Given the description of an element on the screen output the (x, y) to click on. 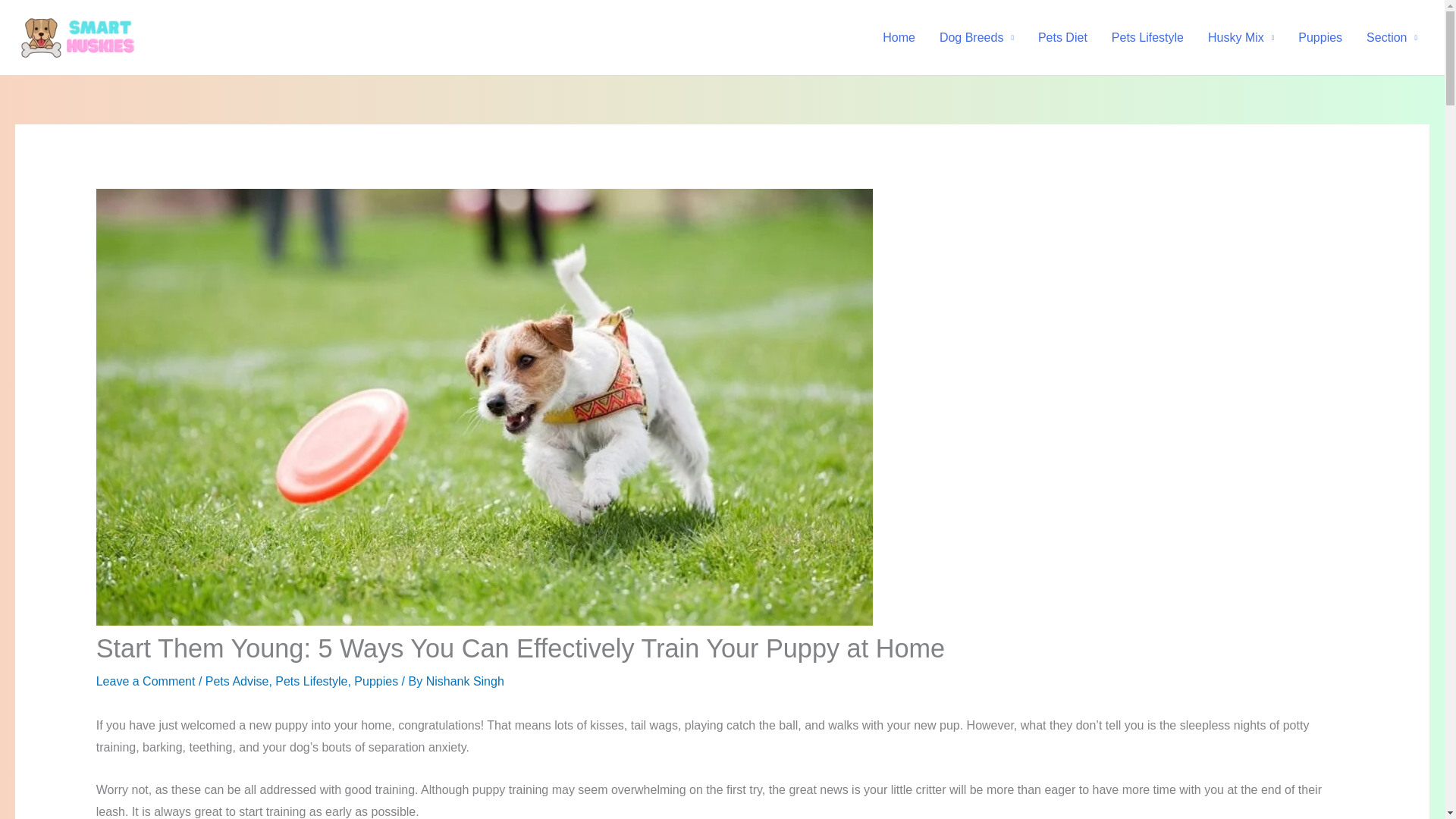
Pets Lifestyle (311, 680)
Nishank Singh (464, 680)
Puppies (375, 680)
Pets Lifestyle (1147, 36)
Leave a Comment (145, 680)
Section (1391, 36)
Home (898, 36)
Pets Advise (237, 680)
Pets Diet (1062, 36)
Husky Mix (1240, 36)
